Given the description of an element on the screen output the (x, y) to click on. 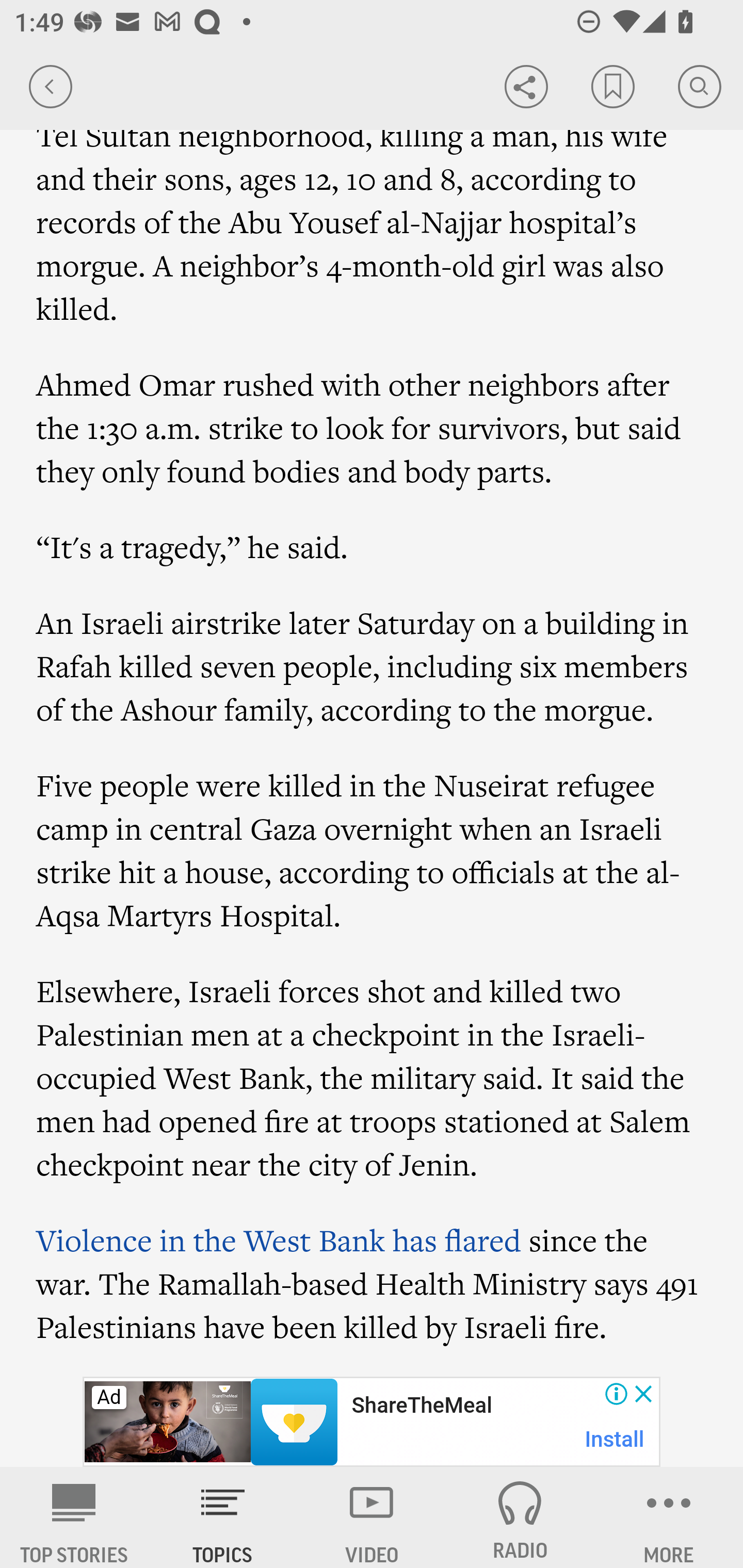
Violence in the West Bank has flared (278, 1240)
ShareTheMeal (420, 1405)
Install (614, 1438)
AP News TOP STORIES (74, 1517)
TOPICS (222, 1517)
VIDEO (371, 1517)
RADIO (519, 1517)
MORE (668, 1517)
